Given the description of an element on the screen output the (x, y) to click on. 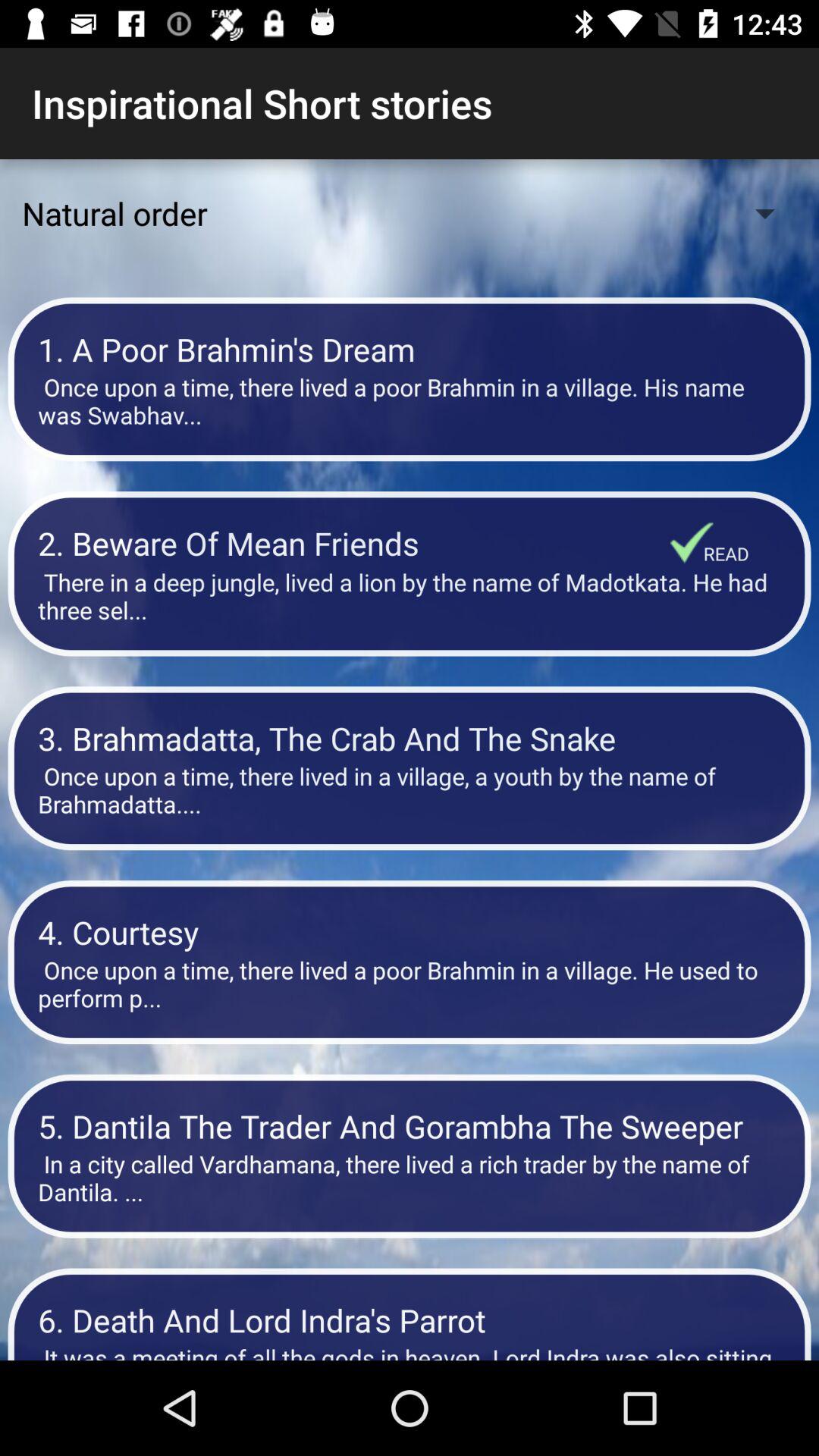
tap the item above the in a city icon (409, 1125)
